Given the description of an element on the screen output the (x, y) to click on. 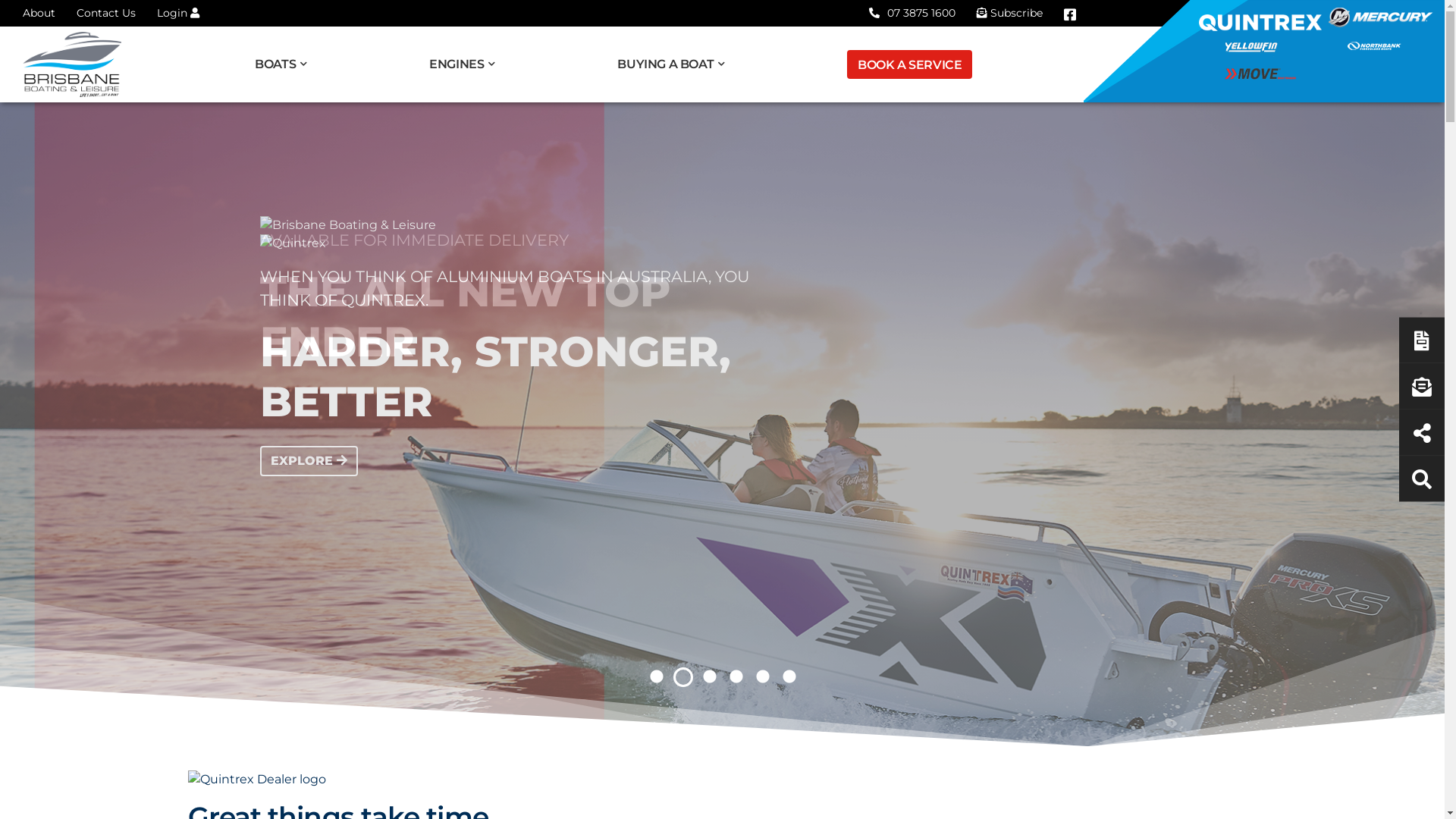
2 Element type: text (682, 676)
ENGINES Element type: text (467, 64)
5 Element type: text (761, 676)
Contact Us Element type: text (105, 12)
BOOK A SERVICE Element type: text (909, 64)
BOATS Element type: text (286, 64)
3 Element type: text (708, 676)
1 Element type: text (655, 676)
About Element type: text (38, 12)
6 Element type: text (788, 676)
Login Element type: text (177, 12)
Subscribe Element type: text (1009, 12)
BUYING A BOAT Element type: text (676, 64)
07 3875 1600 Element type: text (912, 12)
4 Element type: text (735, 676)
